Given the description of an element on the screen output the (x, y) to click on. 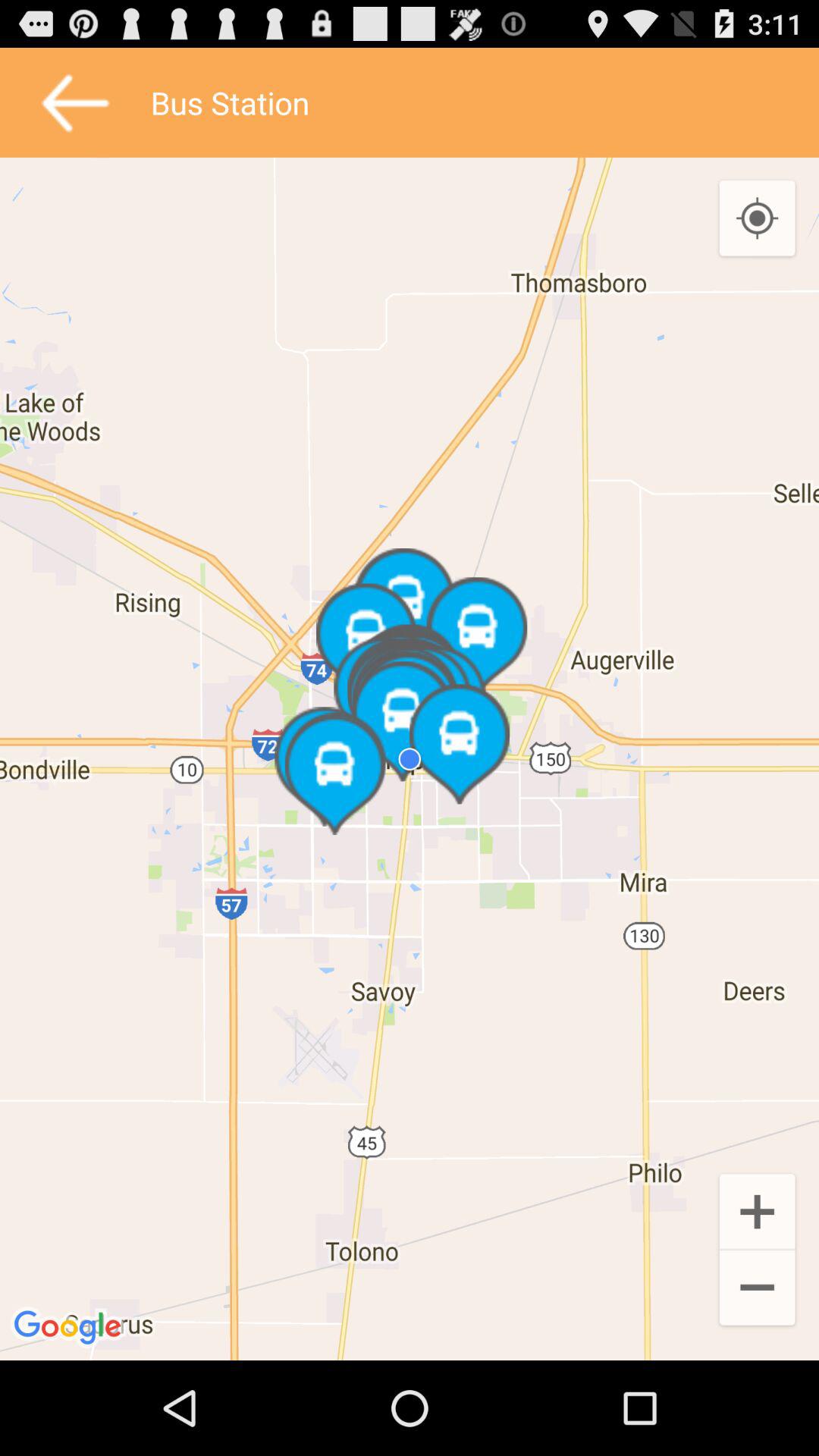
select the icon at the top right corner (757, 219)
